Given the description of an element on the screen output the (x, y) to click on. 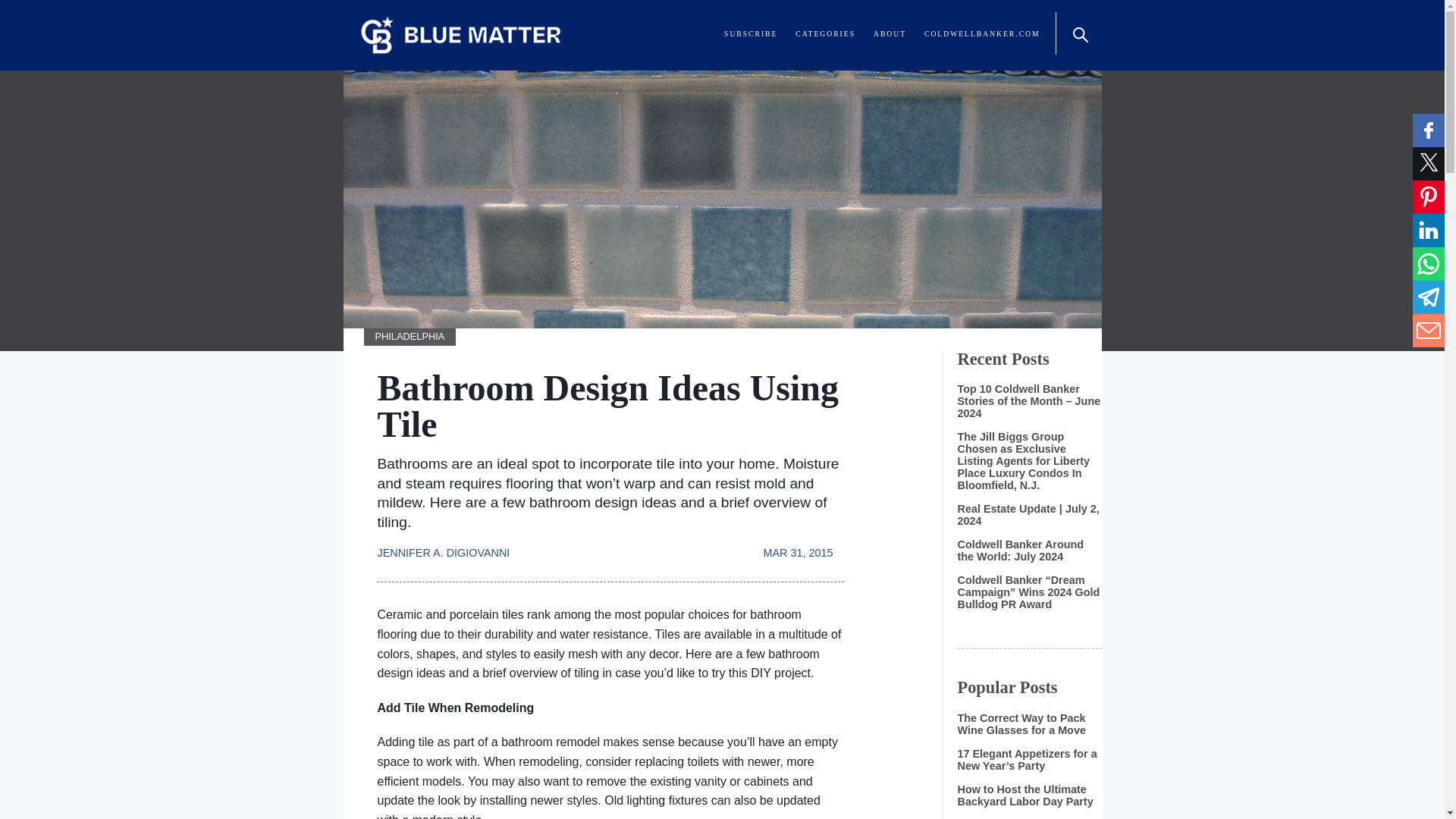
Coldwell Banker Around the World: July 2024 (1019, 550)
SUBSCRIBE (750, 33)
COLDWELLBANKER.COM (981, 33)
JENNIFER A. DIGIOVANNI (449, 544)
How to Host the Ultimate Backyard Labor Day Party (1024, 794)
The Correct Way to Pack Wine Glasses for a Move (1020, 723)
Posts by Jennifer A. DiGiovanni (449, 544)
CATEGORIES (825, 33)
ABOUT (889, 33)
PHILADELPHIA (410, 336)
Search (1078, 33)
